Given the description of an element on the screen output the (x, y) to click on. 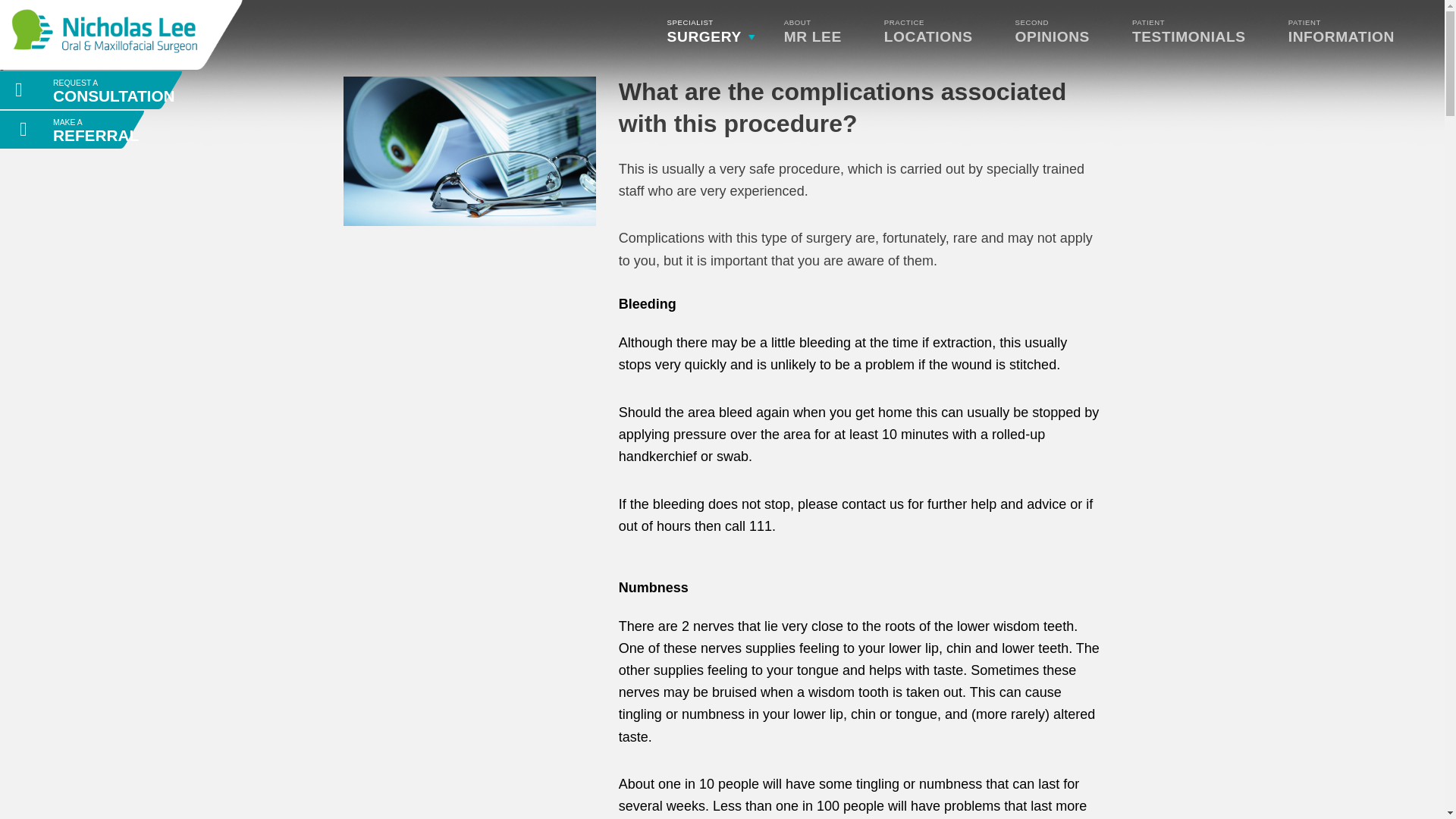
What are the complications associated with this procedure? (841, 107)
What are the complications associated with this procedure? (1194, 29)
What are the complications associated with this procedure? (91, 89)
